Given the description of an element on the screen output the (x, y) to click on. 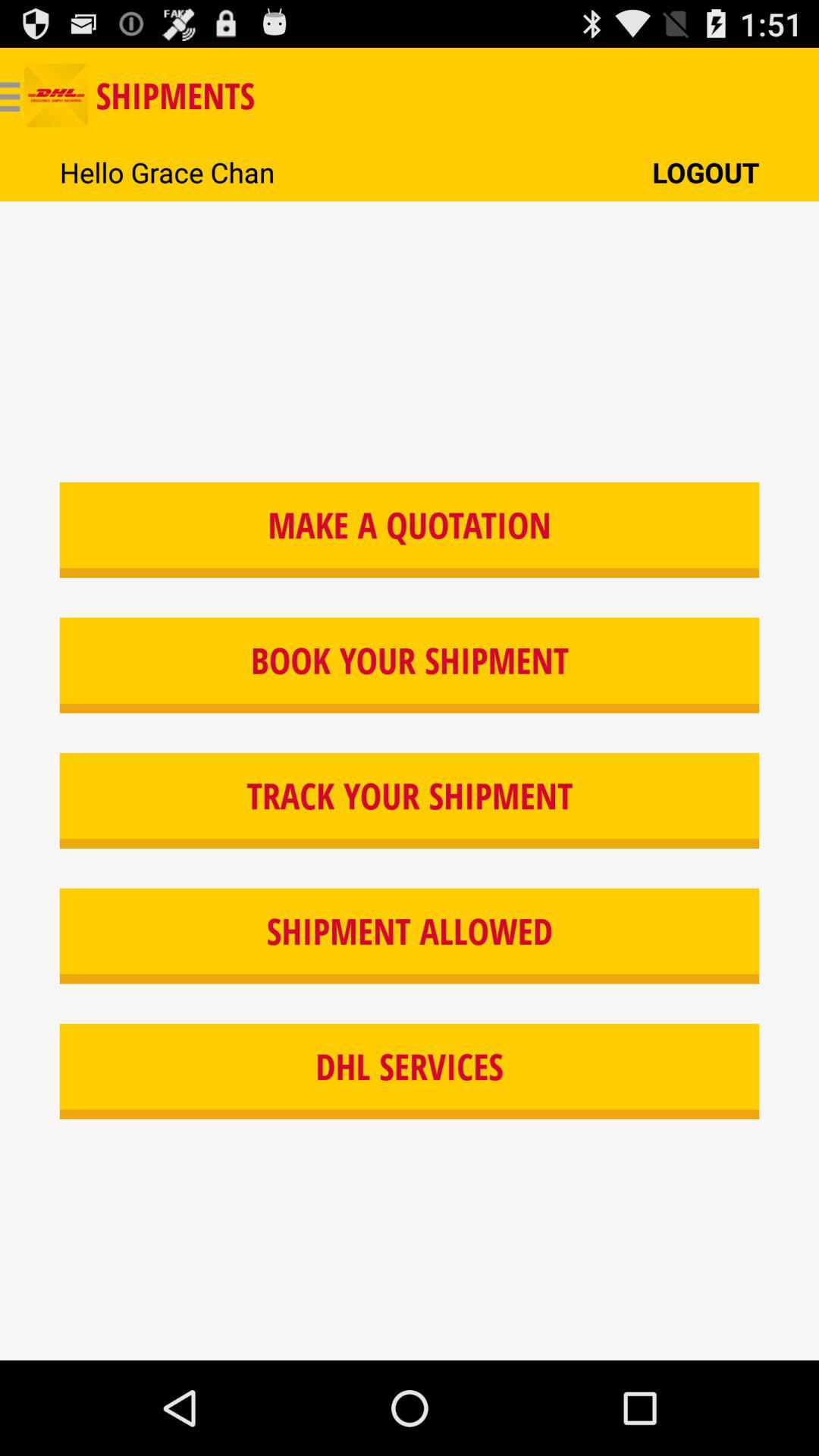
click icon above book your shipment item (409, 529)
